Given the description of an element on the screen output the (x, y) to click on. 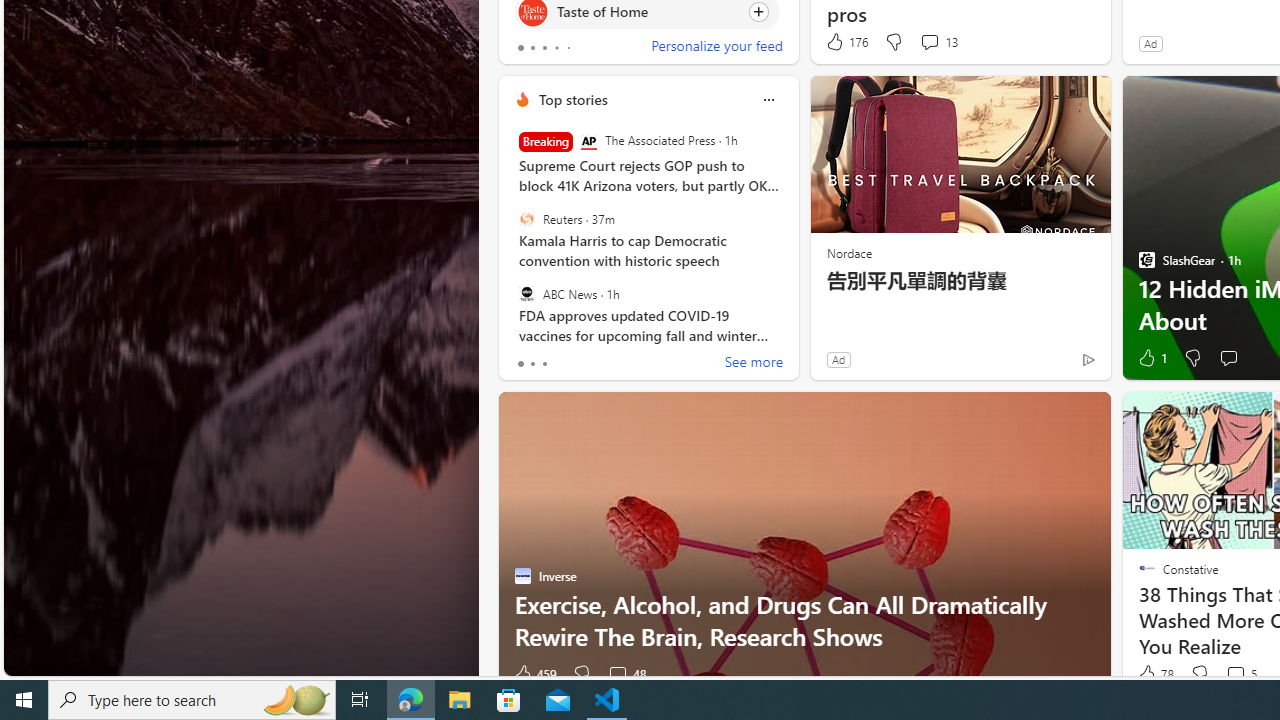
View comments 13 Comment (938, 42)
